Given the description of an element on the screen output the (x, y) to click on. 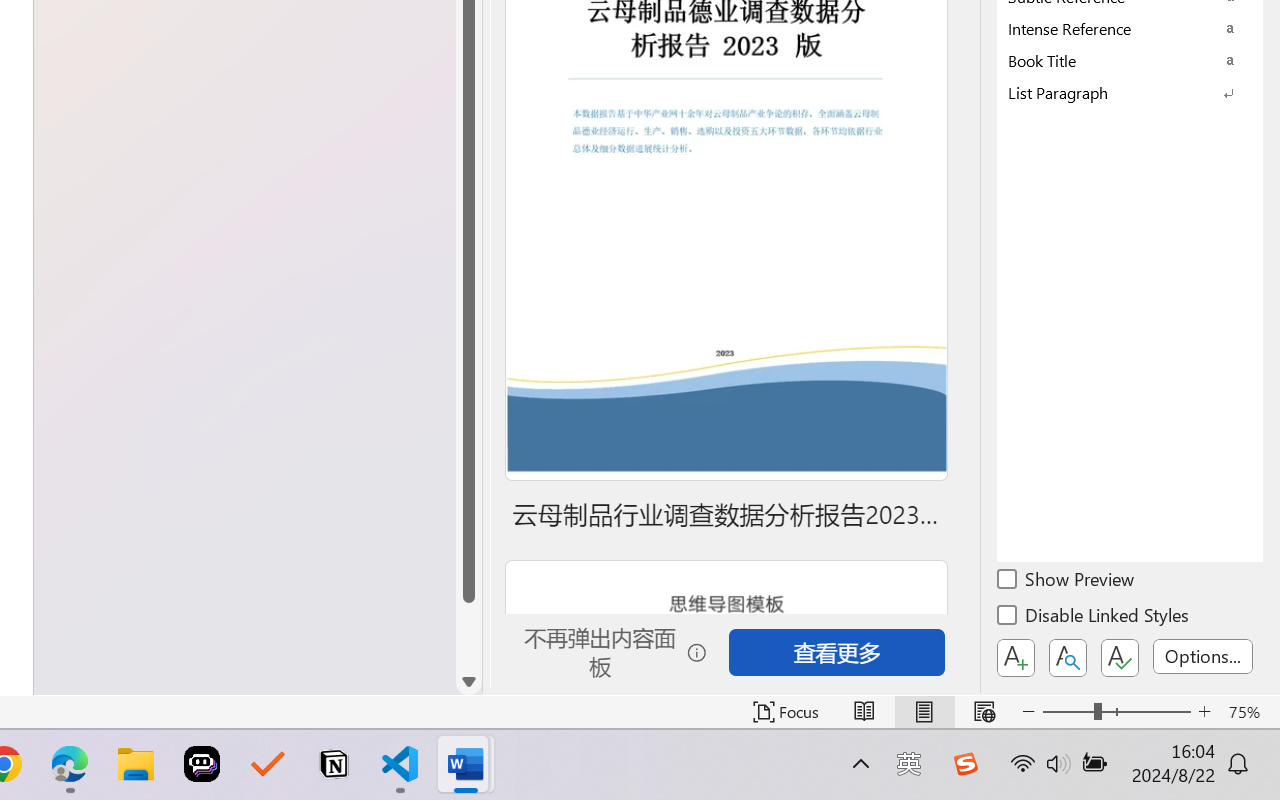
Line down (468, 681)
Class: NetUIImage (1116, 92)
Show Preview (1067, 582)
Zoom Out (1067, 712)
Web Layout (984, 712)
Read Mode (864, 712)
Options... (1203, 656)
Disable Linked Styles (1094, 618)
Zoom (1116, 712)
Intense Reference (1130, 28)
Class: NetUIButton (1119, 657)
Page down (468, 635)
Focus  (786, 712)
